Given the description of an element on the screen output the (x, y) to click on. 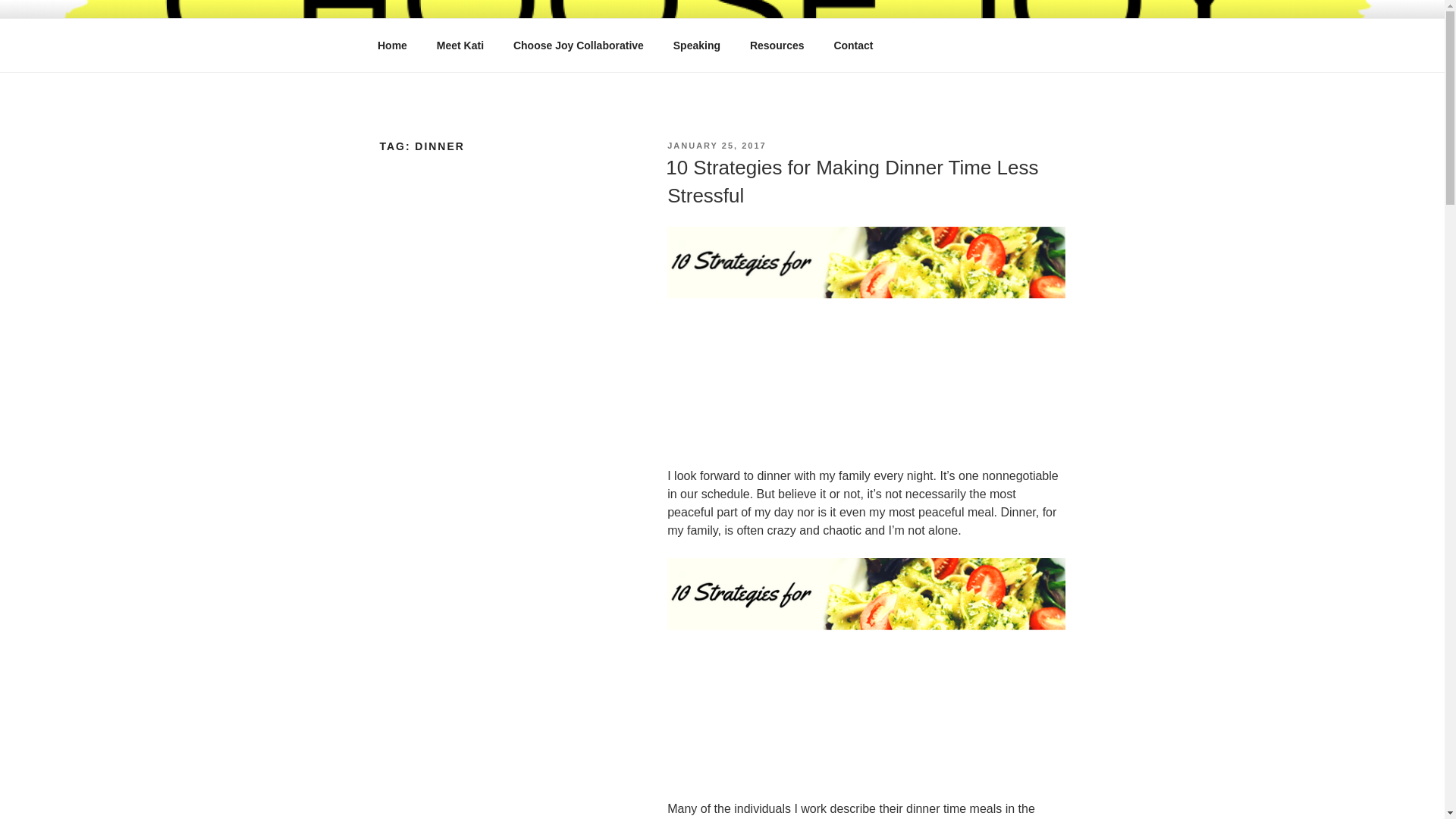
Home (392, 45)
10 Strategies for Making Dinner Time Less Stressful (851, 181)
CHOOSE JOY WITH KATI (563, 52)
JANUARY 25, 2017 (715, 144)
Resources (776, 45)
Choose Joy Collaborative (577, 45)
Meet Kati (459, 45)
Contact (853, 45)
Speaking (696, 45)
